Given the description of an element on the screen output the (x, y) to click on. 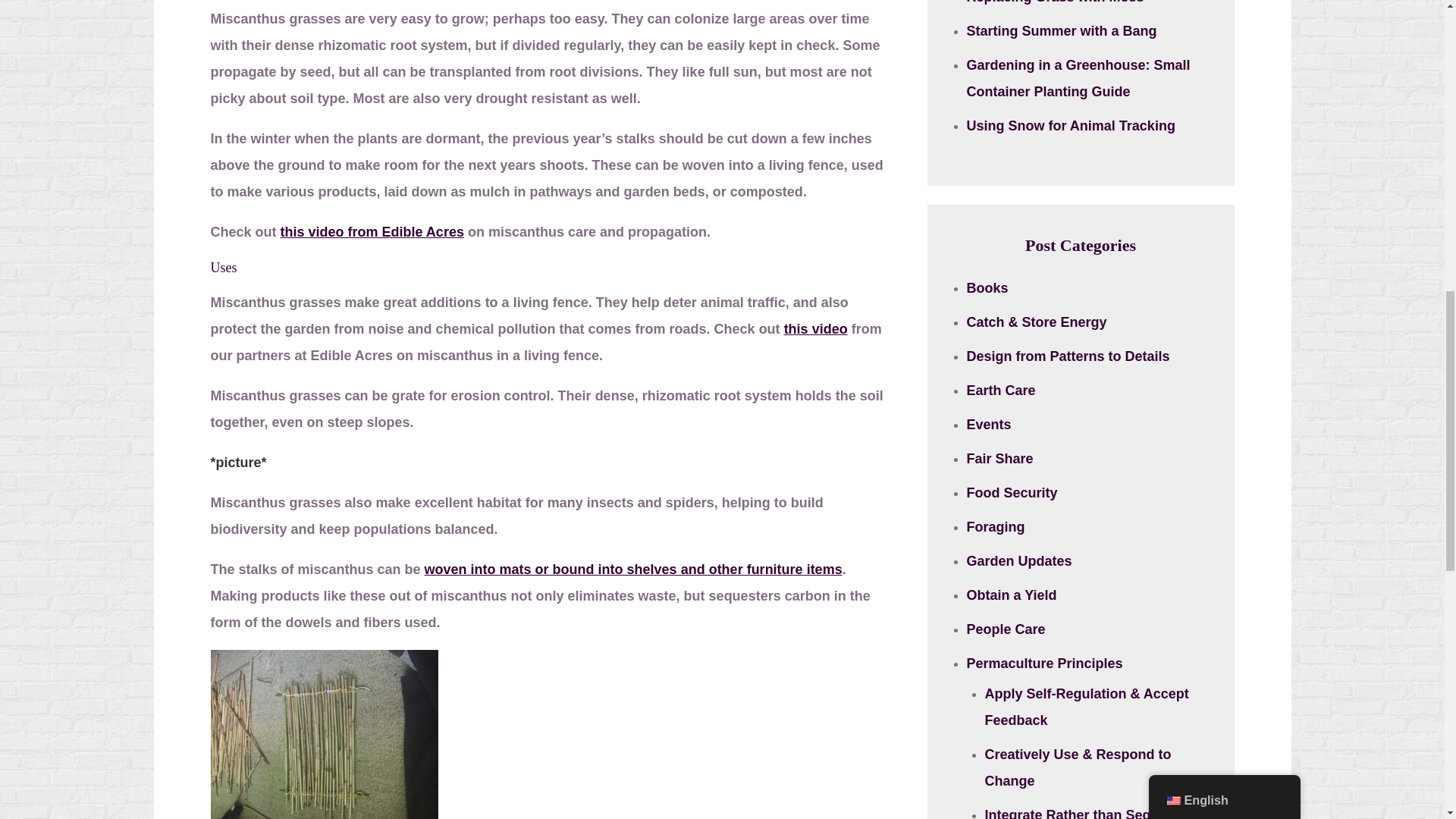
this video (815, 328)
Replacing Grass with Moss (1054, 2)
this video from Edible Acres (372, 231)
